Given the description of an element on the screen output the (x, y) to click on. 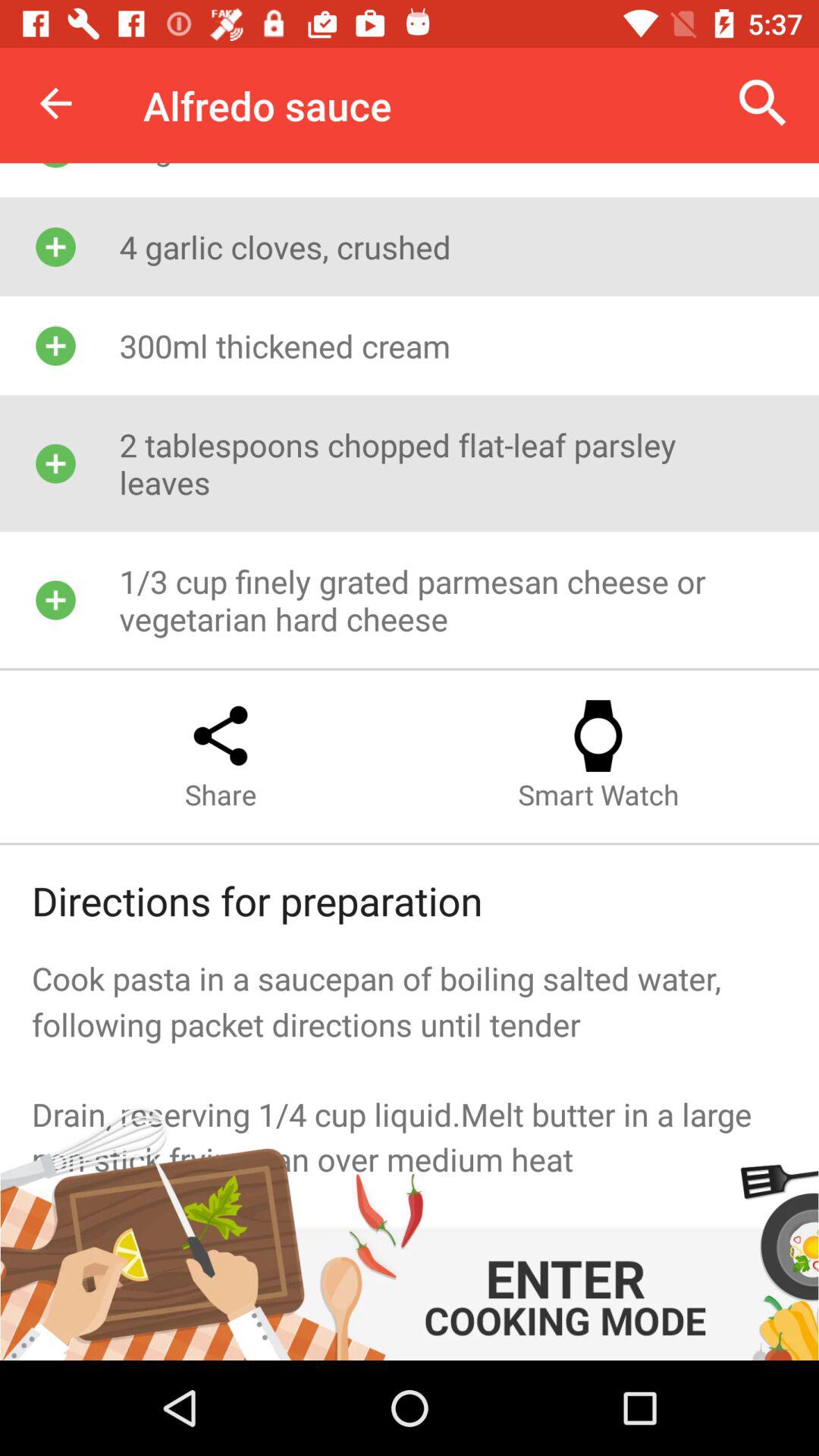
open the item next to alfredo sauce item (55, 103)
